Given the description of an element on the screen output the (x, y) to click on. 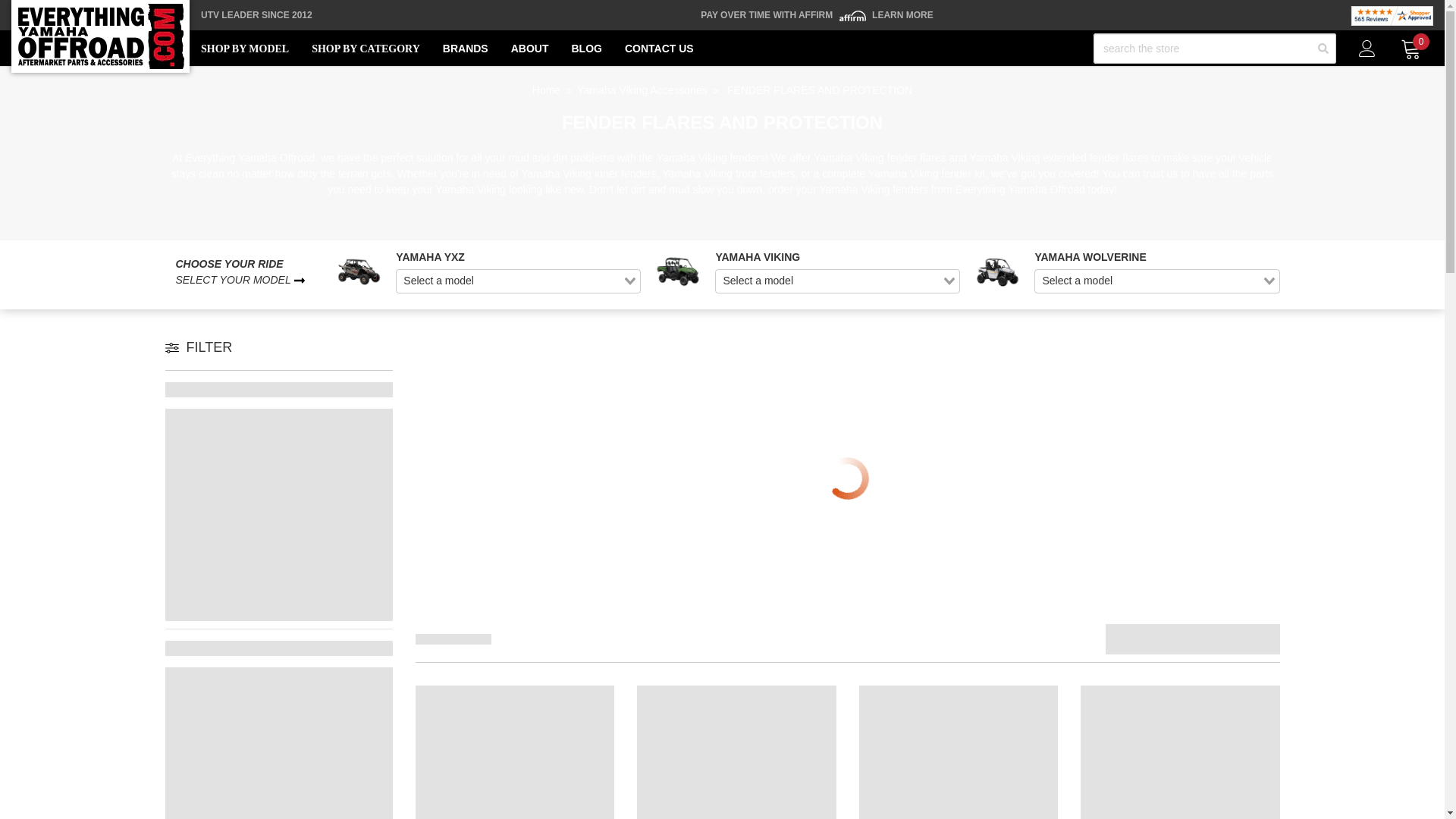
SHOP BY MODEL (244, 48)
SHOP BY CATEGORY (365, 48)
UTV LEADER SINCE 2012 (256, 14)
Everything Yamaha Offroad (100, 36)
LEARN MORE (902, 14)
